Given the description of an element on the screen output the (x, y) to click on. 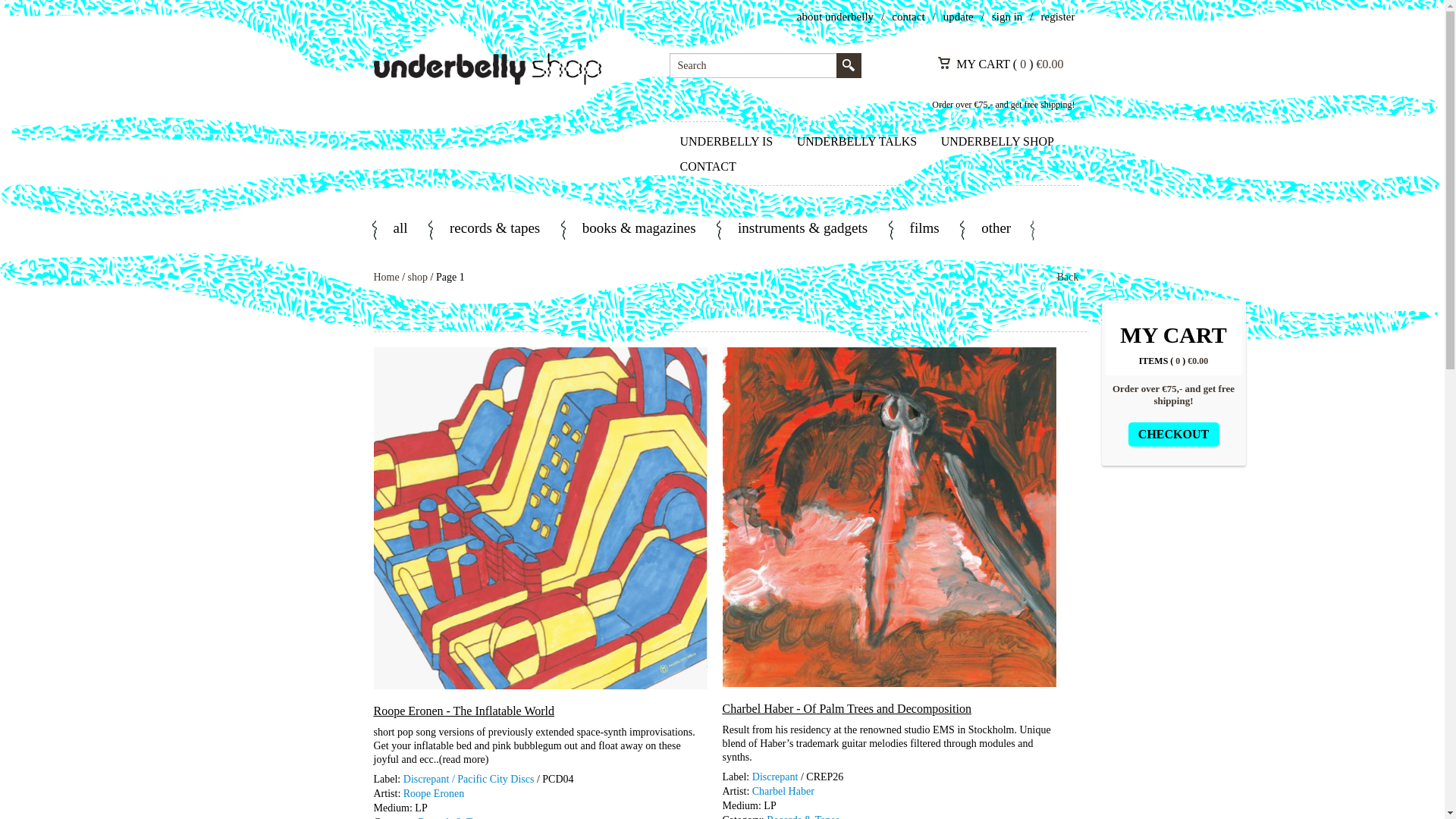
CONTACT (706, 166)
Roope Eronen - The Inflatable World (463, 709)
other (995, 229)
Home (385, 276)
shop (417, 276)
CHECKOUT (1174, 434)
update (958, 16)
films (924, 229)
Back (1067, 277)
UNDERBELLY TALKS (856, 141)
about underbelly (834, 16)
UNDERBELLY IS (725, 141)
UNDERBELLY SHOP (997, 141)
Roope Eronen (433, 792)
contact (907, 16)
